Given the description of an element on the screen output the (x, y) to click on. 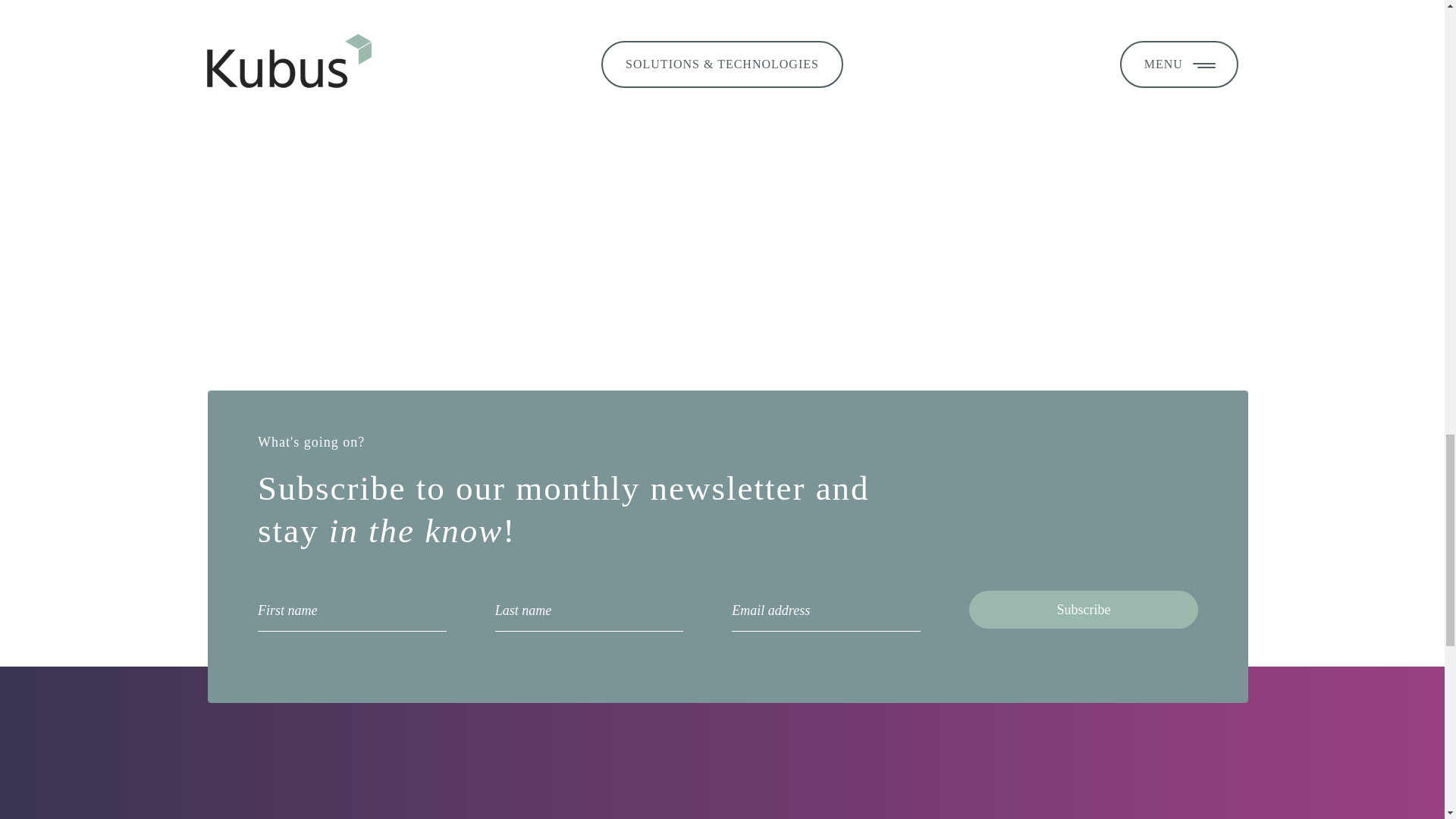
Subscribe (1083, 609)
